Given the description of an element on the screen output the (x, y) to click on. 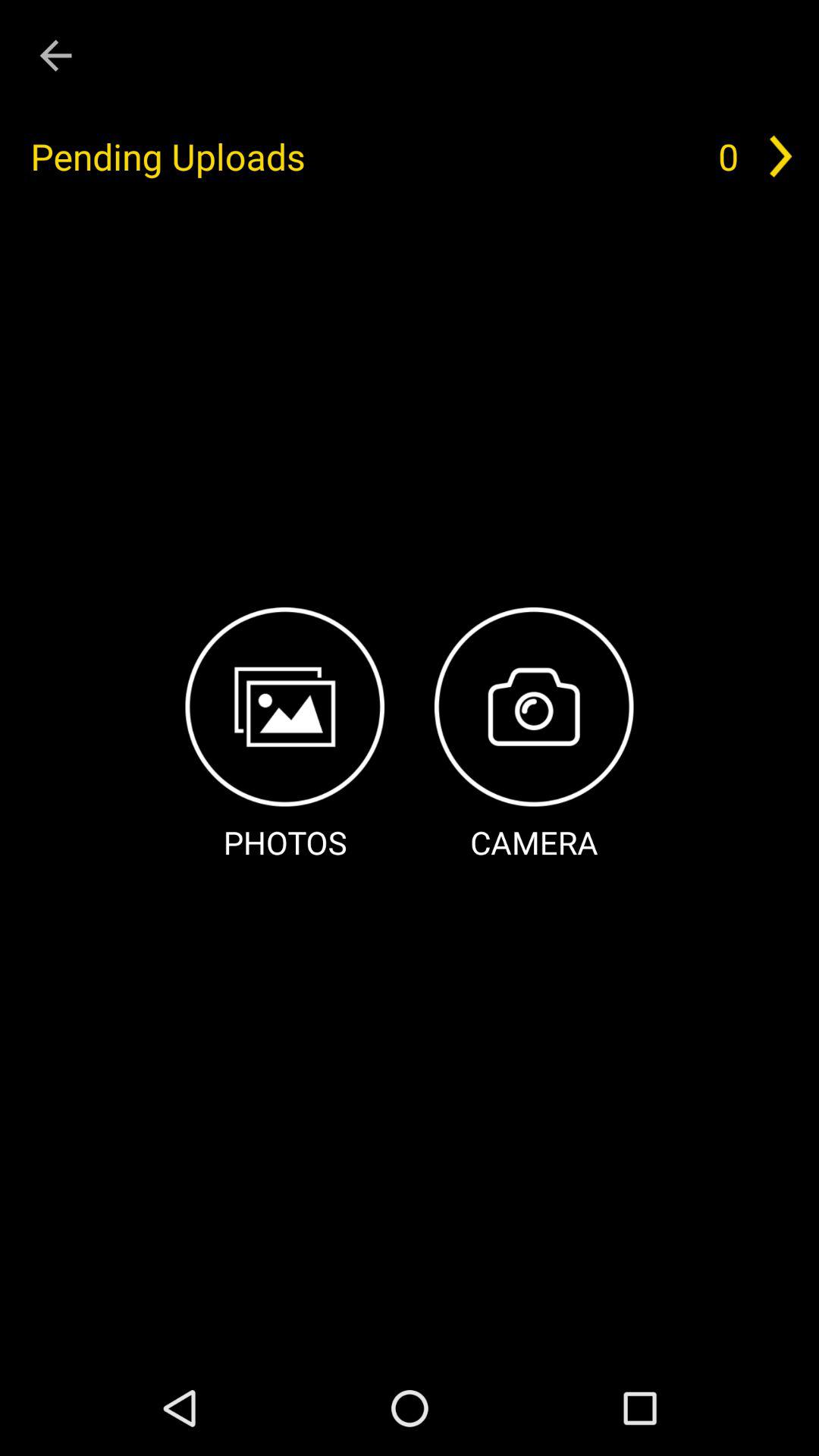
turn off photos (284, 735)
